Given the description of an element on the screen output the (x, y) to click on. 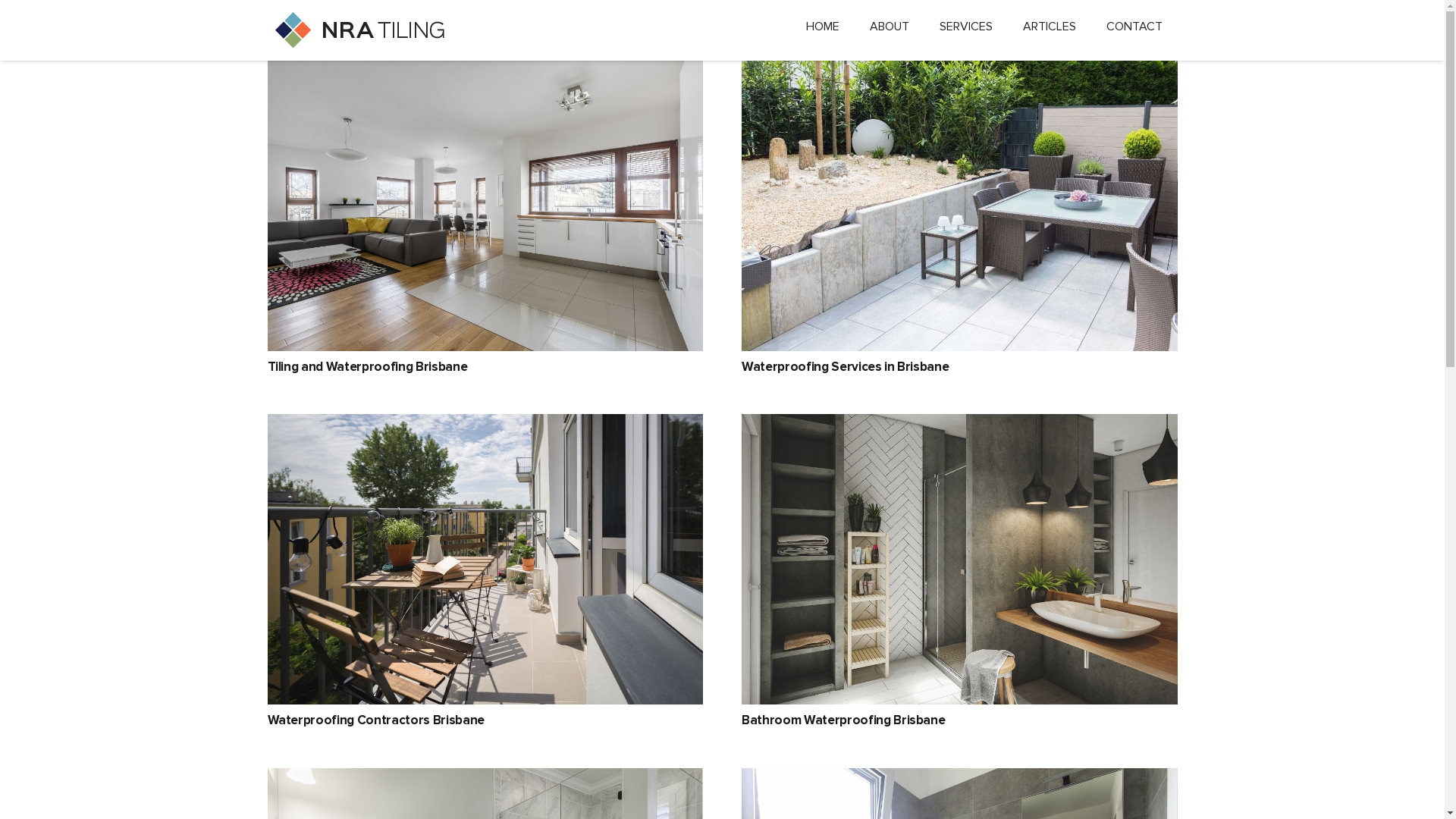
Bathroom Waterproofing Brisbane Element type: text (842, 720)
Waterproofing Contractors Brisbane Element type: text (374, 720)
Tiling and Waterproofing Brisbane Element type: text (366, 365)
Waterproofing Services in Brisbane Element type: text (844, 365)
